Given the description of an element on the screen output the (x, y) to click on. 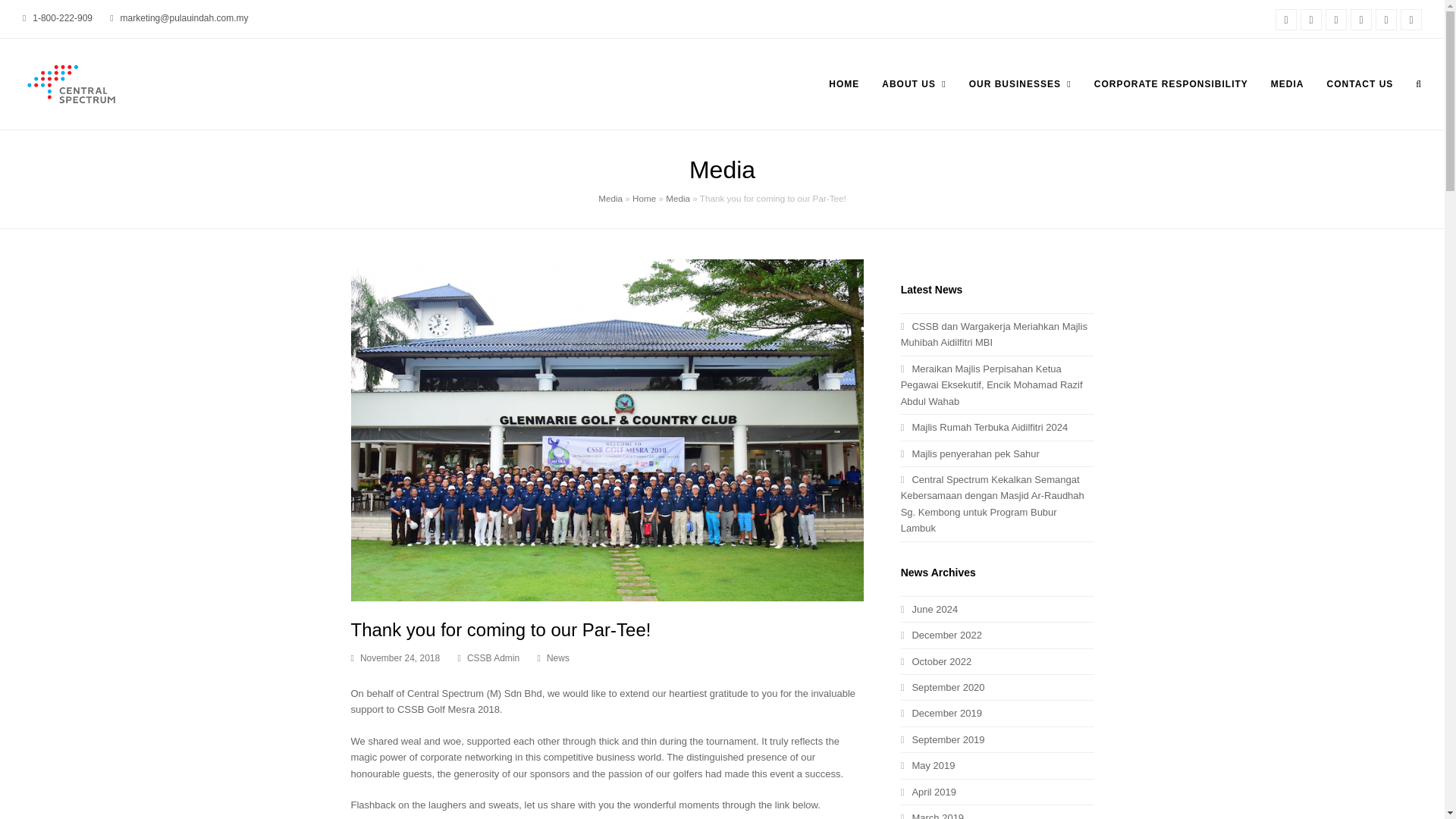
Instagram (1311, 19)
Email (1385, 19)
HOME (843, 84)
1-800-222-909 (62, 18)
Facebook (1286, 19)
LinkedIn (1335, 19)
Phone (1411, 19)
LinkedIn (1335, 19)
Youtube (1361, 19)
CORPORATE RESPONSIBILITY (1171, 84)
Phone (1411, 19)
CONTACT US (1360, 84)
MEDIA (1287, 84)
Instagram (1311, 19)
CSSB Admin (493, 657)
